Given the description of an element on the screen output the (x, y) to click on. 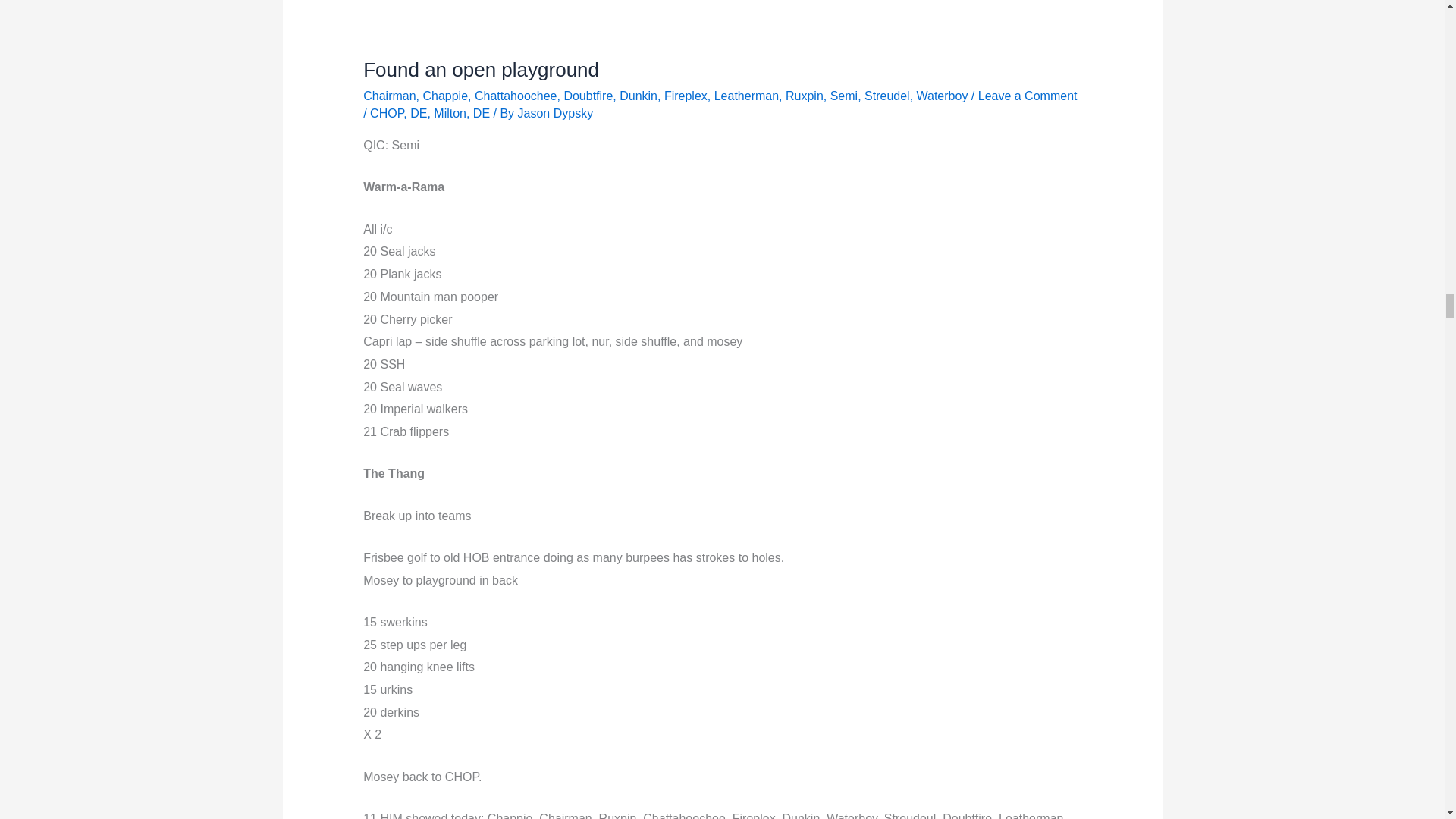
View all posts by Jason Dypsky (556, 113)
